Given the description of an element on the screen output the (x, y) to click on. 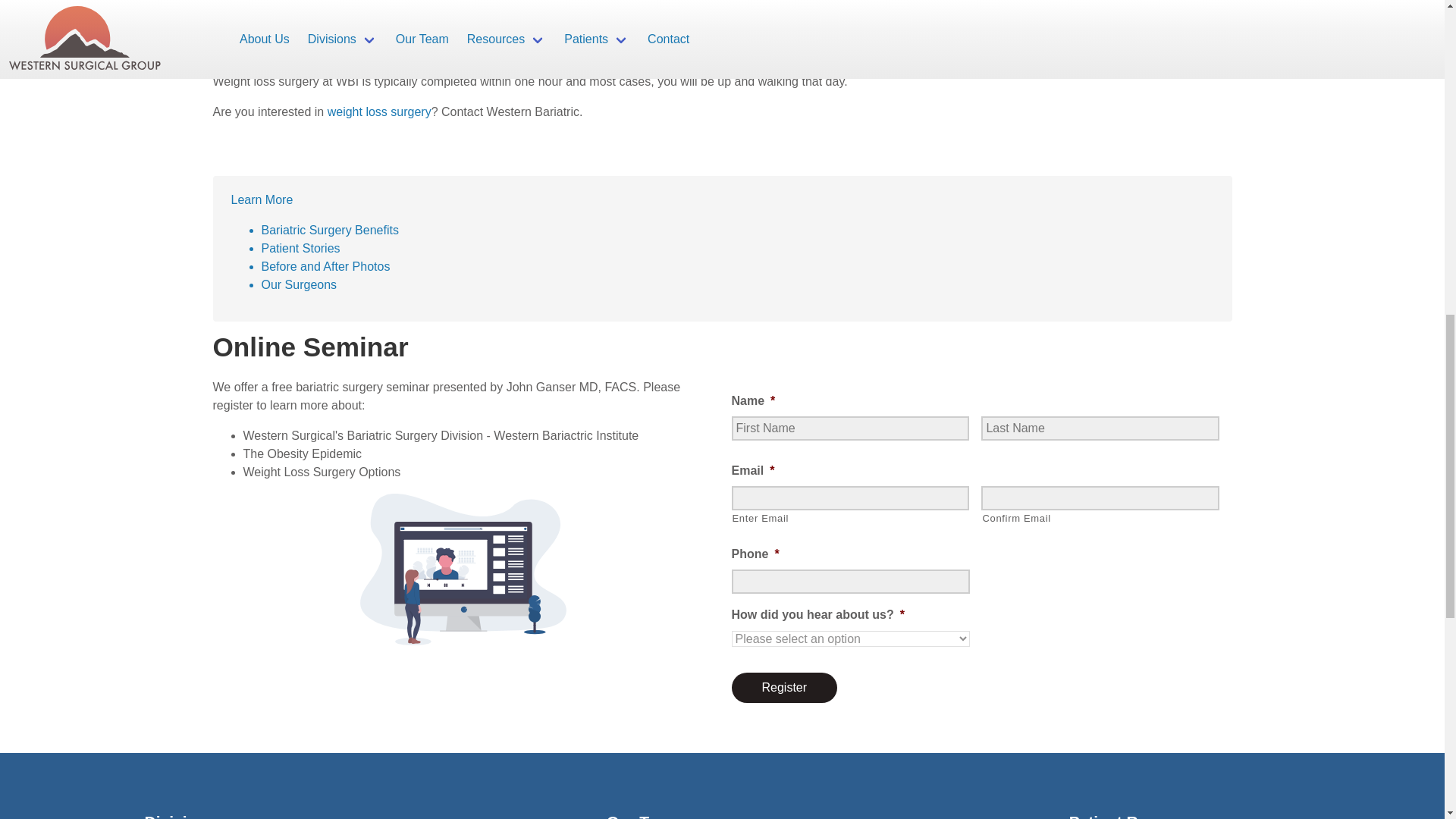
Register (783, 687)
total cost of weight loss surgery (373, 51)
weight loss surgery in Reno (633, 14)
